Given the description of an element on the screen output the (x, y) to click on. 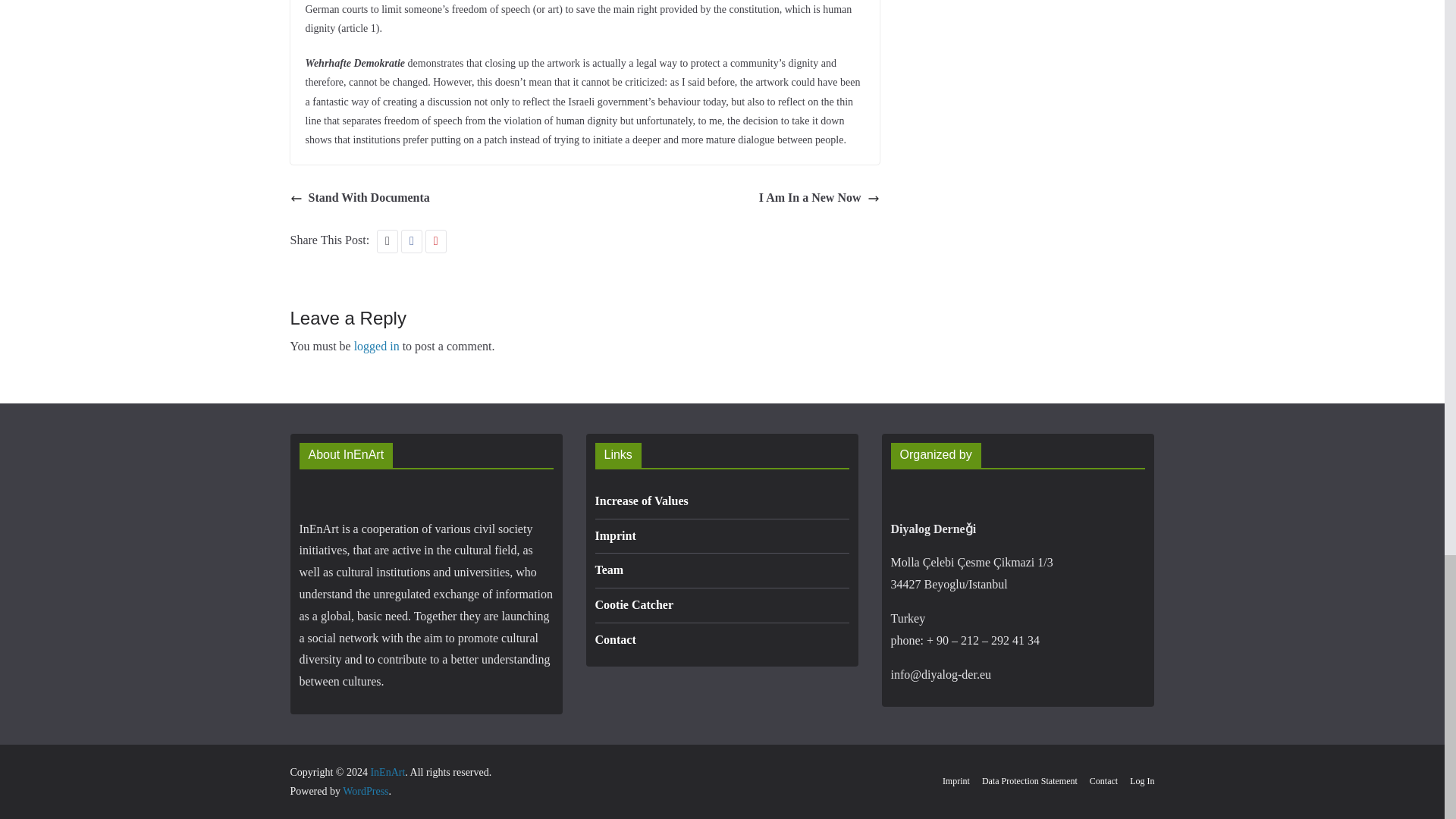
WordPress (365, 790)
InEnArt (386, 772)
I Am In a New Now (818, 198)
Stand With Documenta (359, 198)
